Given the description of an element on the screen output the (x, y) to click on. 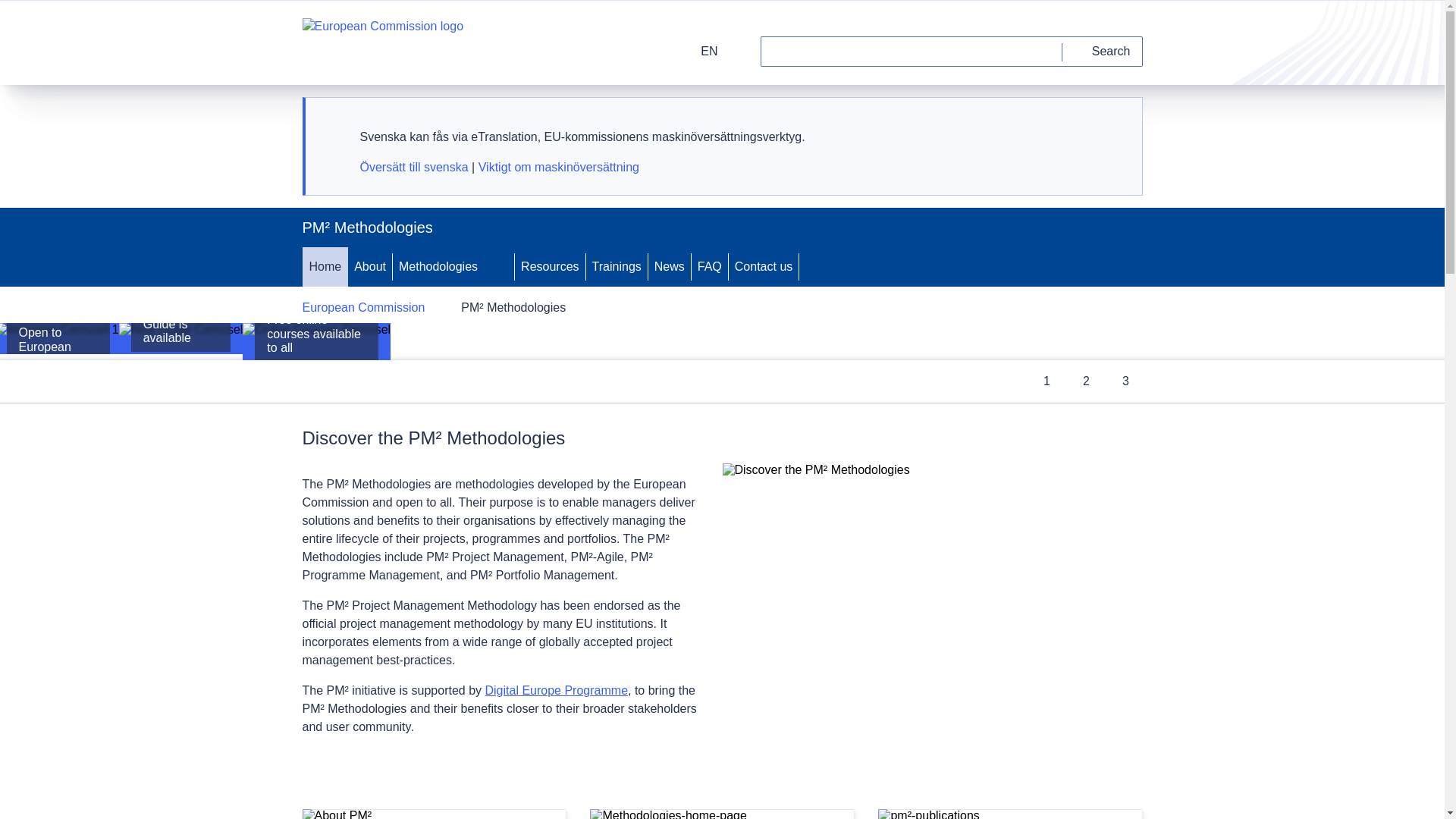
Pause carousel (351, 381)
EN (699, 51)
Search (1102, 51)
About (369, 266)
Trainings (616, 266)
1 (1045, 381)
European Commission (363, 307)
Home (324, 266)
FAQ (709, 266)
Play carousel (317, 381)
Digital Europe Programme (556, 689)
Methodologies (436, 266)
News (668, 266)
Resources (550, 266)
